Given the description of an element on the screen output the (x, y) to click on. 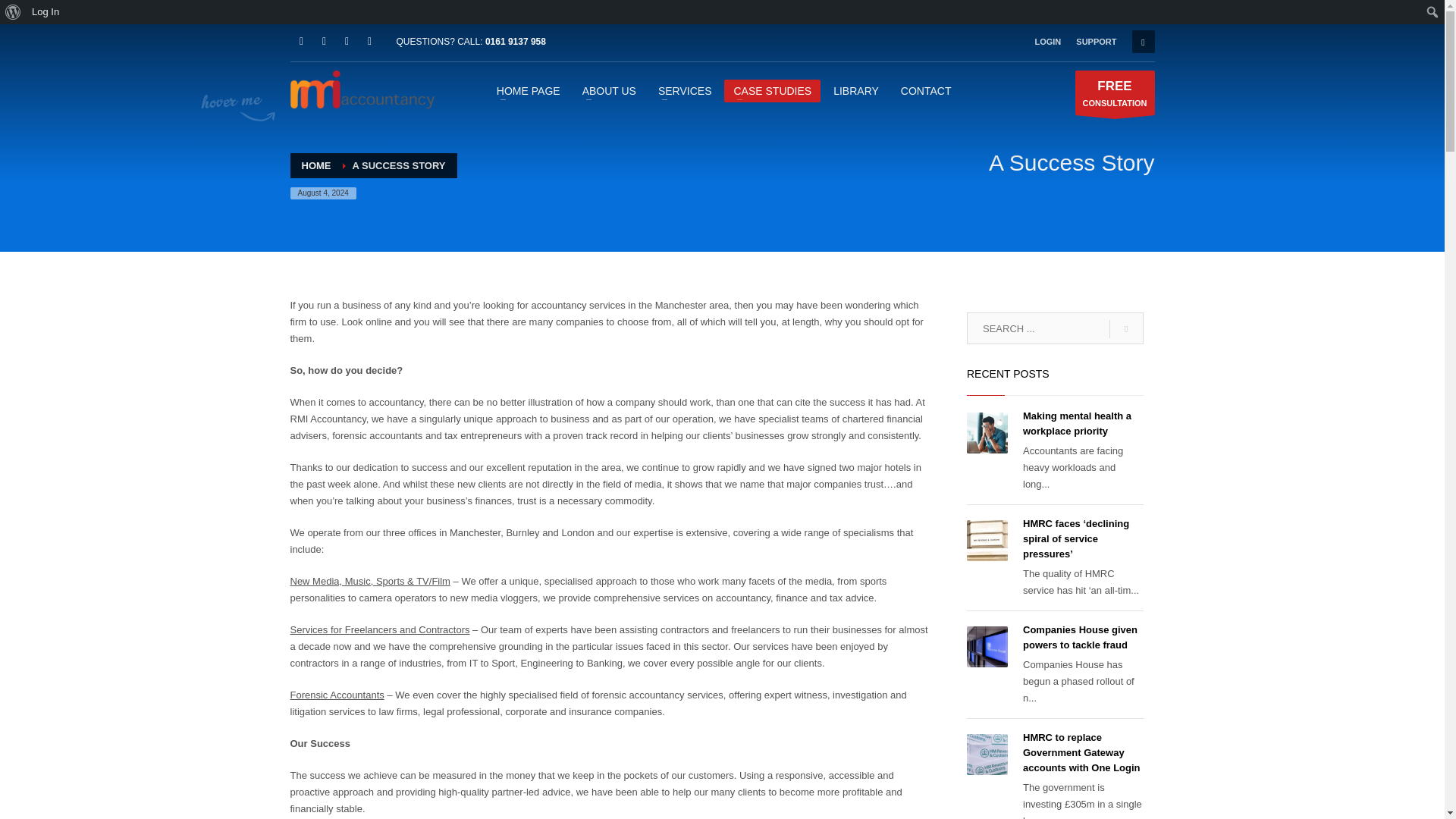
SUPPORT (1095, 41)
SERVICES (684, 89)
LOGIN (1047, 41)
ABOUT US (609, 89)
0161 9137 958 (515, 41)
Companies House given powers to tackle fraud (1080, 637)
City firm of Accountants (361, 89)
LinkedIn (301, 41)
Google plus (369, 41)
HOME PAGE (528, 89)
Twitter (346, 41)
HMRC to replace Government Gateway accounts with One Login (1081, 752)
Making mental health a workplace priority (1077, 423)
Facebook (323, 41)
